Given the description of an element on the screen output the (x, y) to click on. 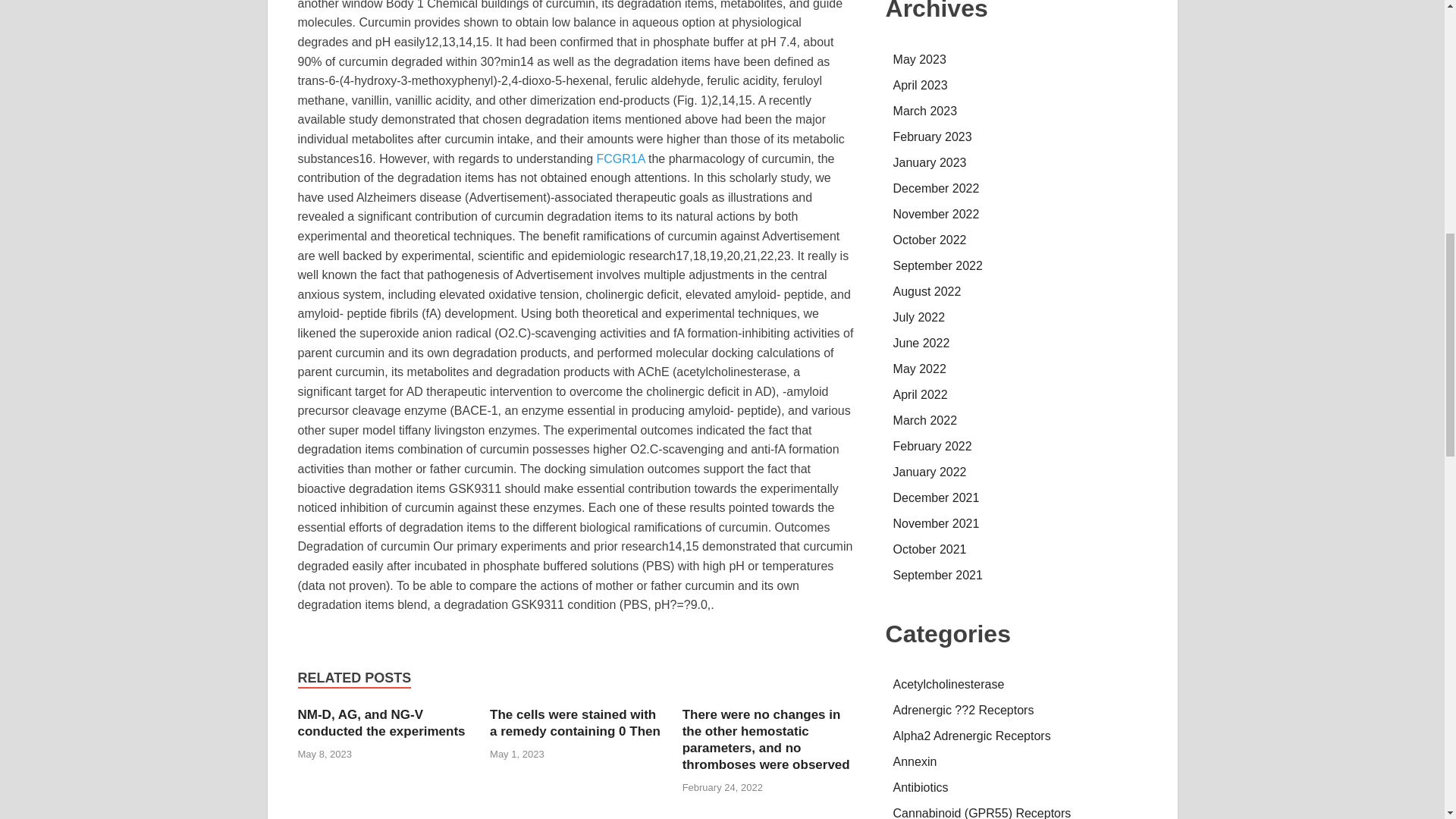
July 2022 (918, 317)
The cells were stained with a remedy containing 0 Then (575, 722)
FCGR1A (620, 158)
December 2022 (936, 187)
November 2022 (936, 214)
NM-D, AG, and NG-V conducted the experiments (380, 722)
February 2023 (932, 136)
April 2023 (920, 84)
October 2022 (929, 239)
